Given the description of an element on the screen output the (x, y) to click on. 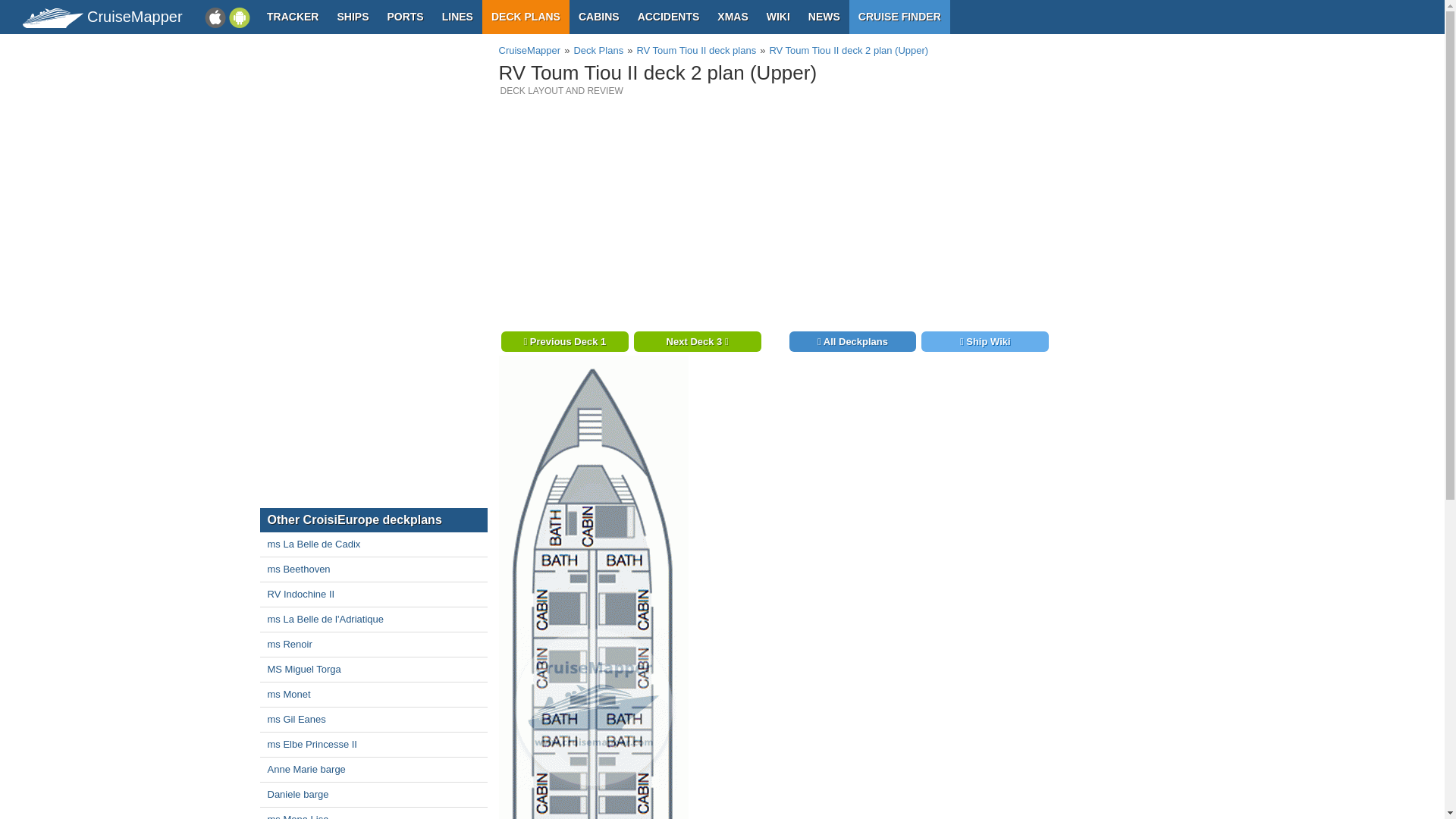
ms Gil Eanes (372, 719)
Daniele barge (372, 794)
All Deckplans (853, 341)
Next Deck 3 (697, 341)
ms La Belle de l'Adriatique (372, 619)
CruiseMapper (529, 50)
CruiseMapper (52, 17)
Previous Deck 1 (564, 341)
ms Beethoven (372, 569)
ms La Belle de Cadix (372, 544)
CABINS (598, 17)
ACCIDENTS (668, 17)
MS Miguel Torga (372, 669)
DECK PLANS (525, 17)
ms Elbe Princesse II (372, 744)
